Given the description of an element on the screen output the (x, y) to click on. 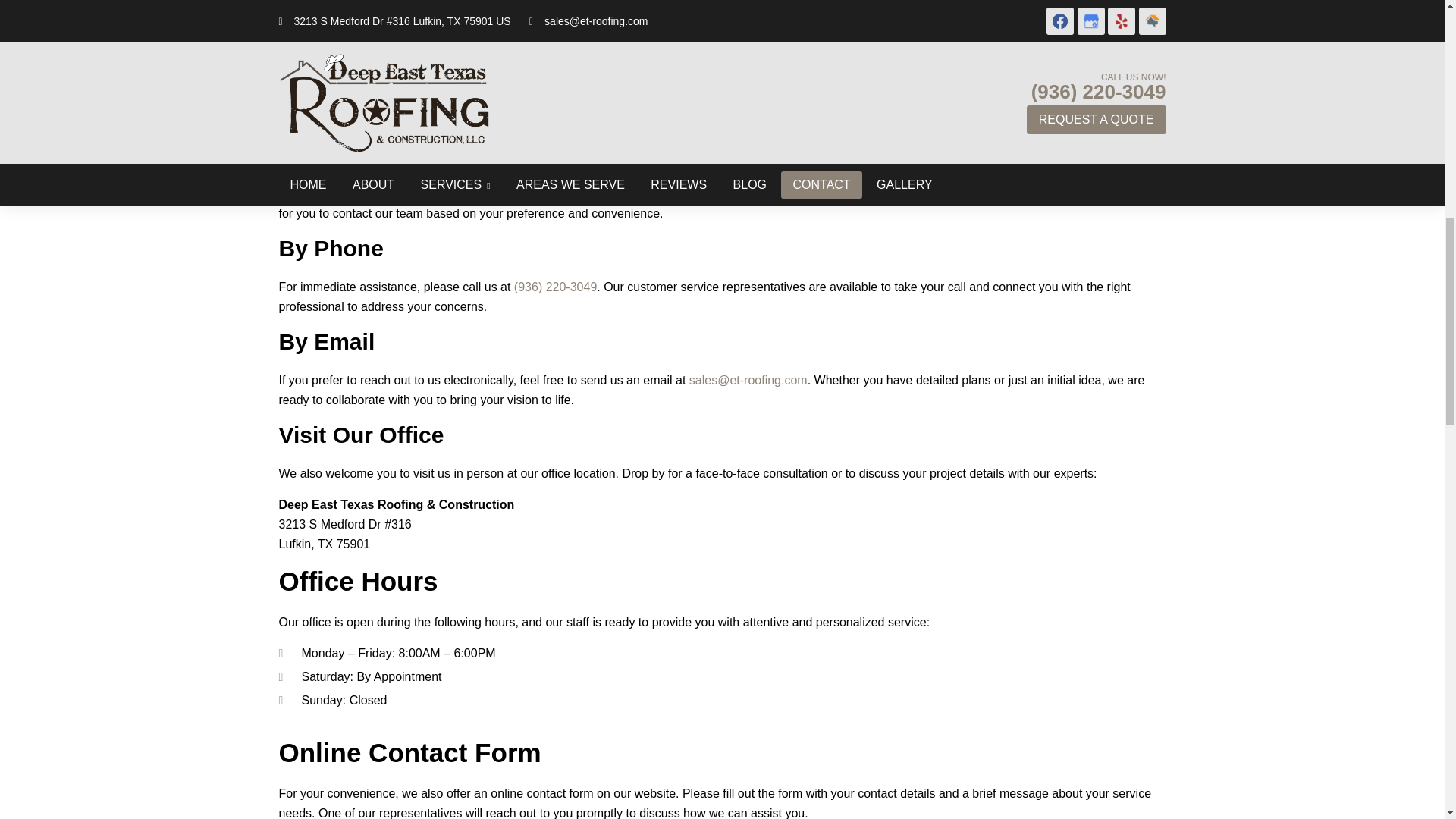
Contact Us (722, 61)
